Given the description of an element on the screen output the (x, y) to click on. 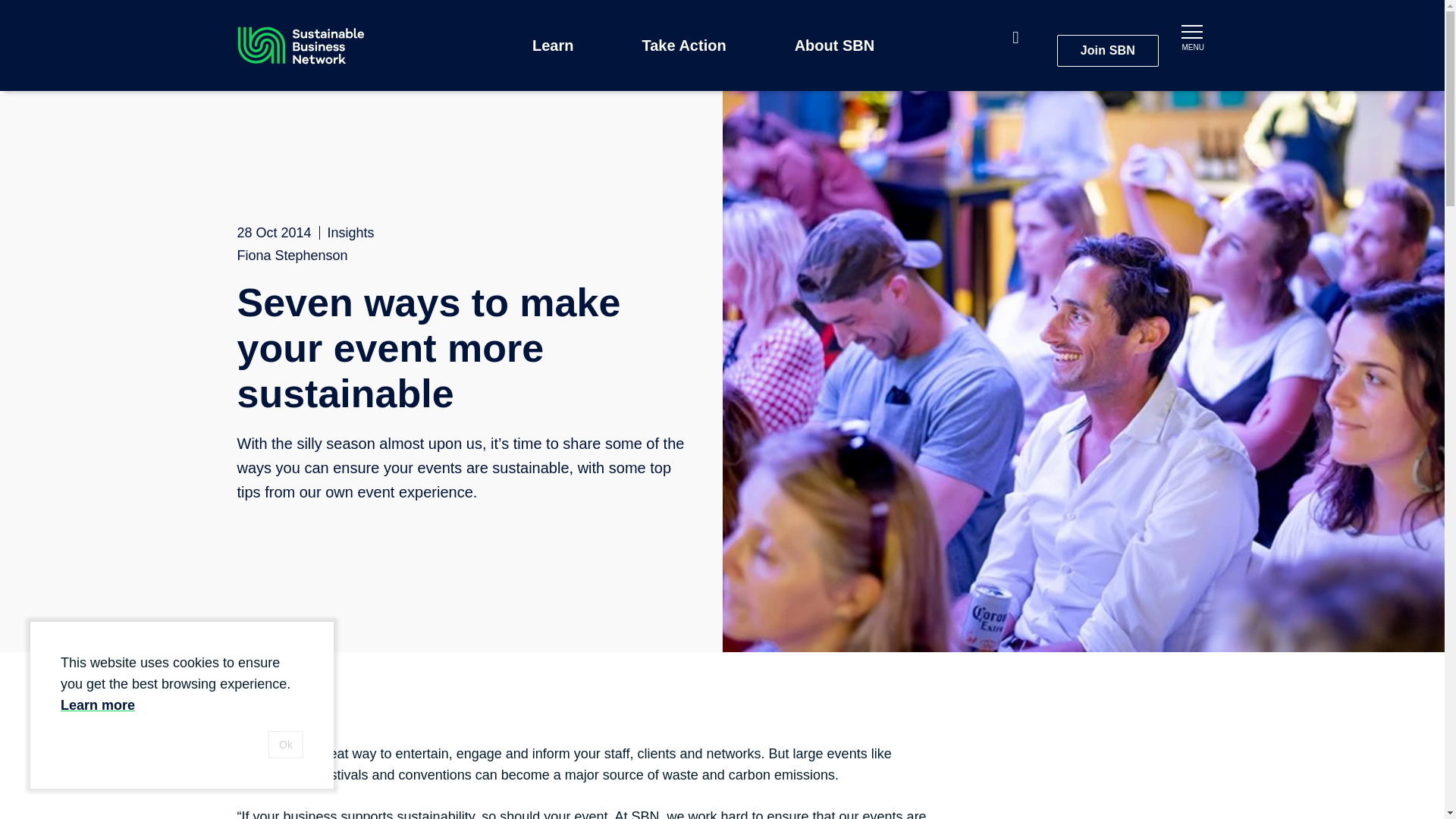
Learn (555, 45)
Take Action (687, 45)
About SBN (838, 45)
Join SBN (1107, 50)
Search (1022, 39)
Toggle menu (1191, 35)
Privacy Policy (98, 704)
MENU (1191, 35)
